Given the description of an element on the screen output the (x, y) to click on. 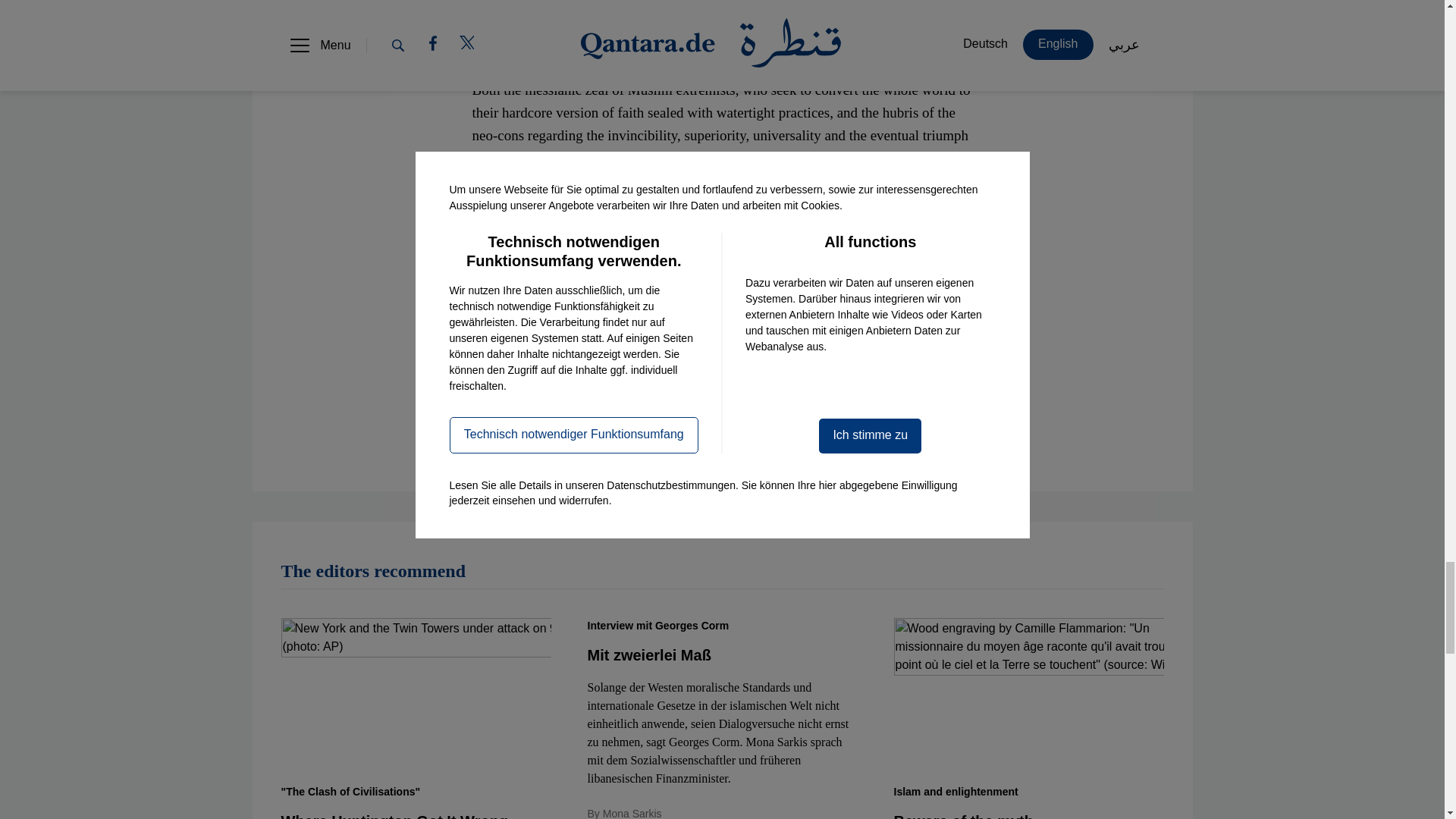
Share (578, 429)
Home (957, 429)
Copy link of content (493, 429)
Print (663, 429)
Link (493, 429)
